Given the description of an element on the screen output the (x, y) to click on. 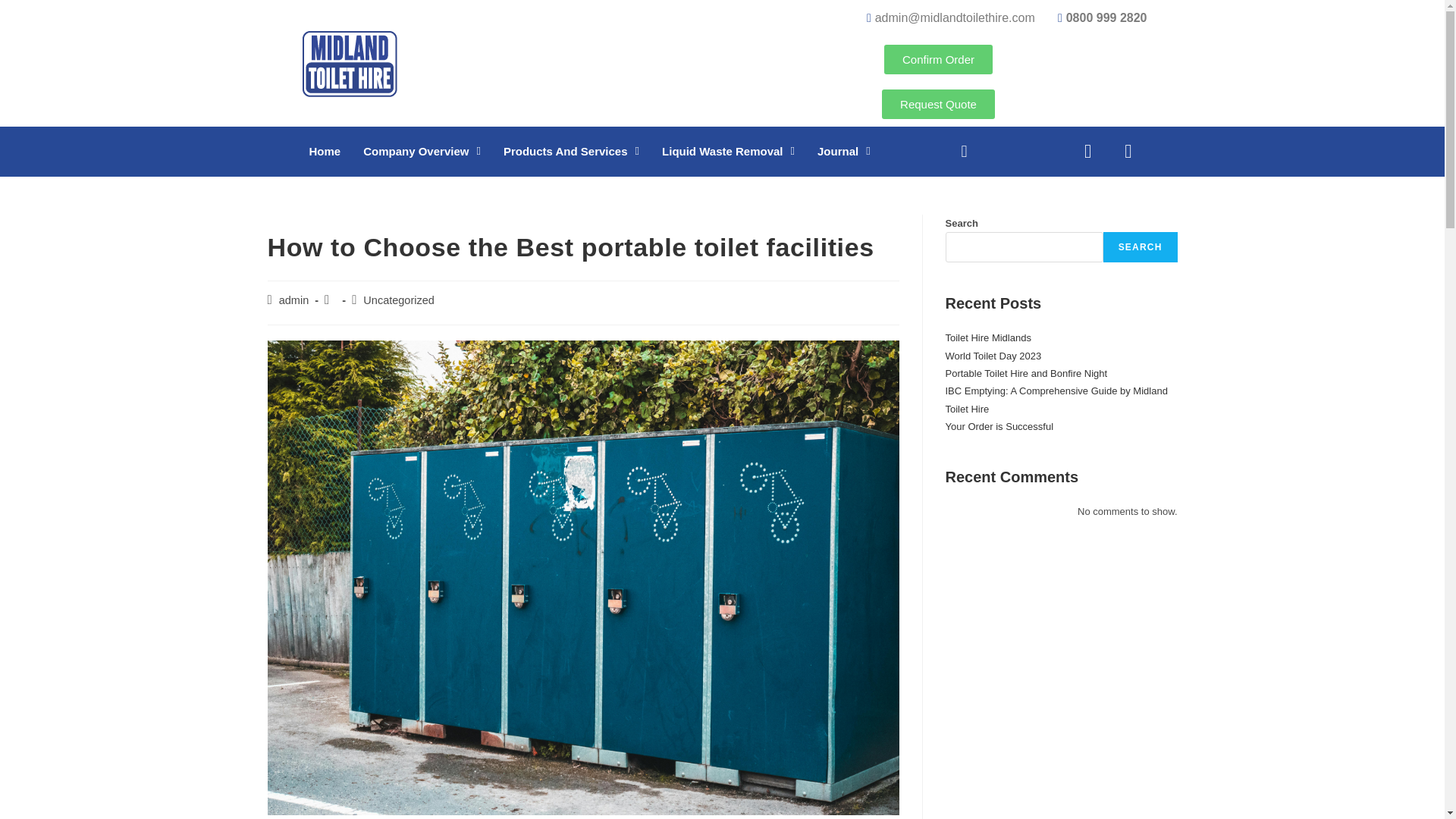
Request Quote (938, 103)
Confirm Order (937, 59)
Products And Services (571, 151)
0800 999 2820 (1096, 18)
Company Overview (422, 151)
Posts by admin (293, 300)
Home (324, 151)
